Given the description of an element on the screen output the (x, y) to click on. 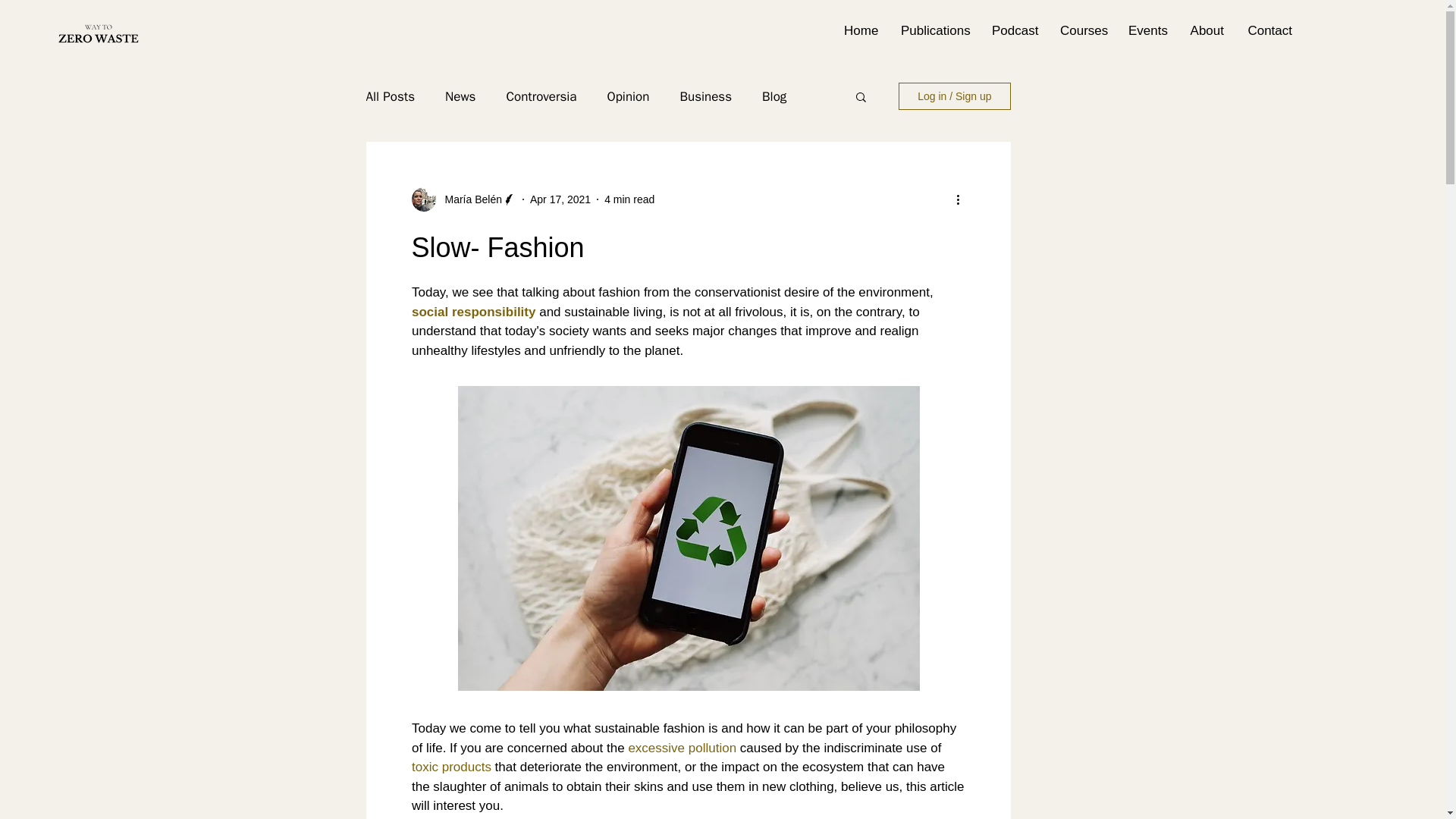
4 min read (628, 198)
Apr 17, 2021 (560, 198)
Contact (1268, 30)
Business (705, 96)
Blog (773, 96)
Publications (934, 30)
Courses (1082, 30)
Controversia (540, 96)
About (1205, 30)
Opinion (628, 96)
